Given the description of an element on the screen output the (x, y) to click on. 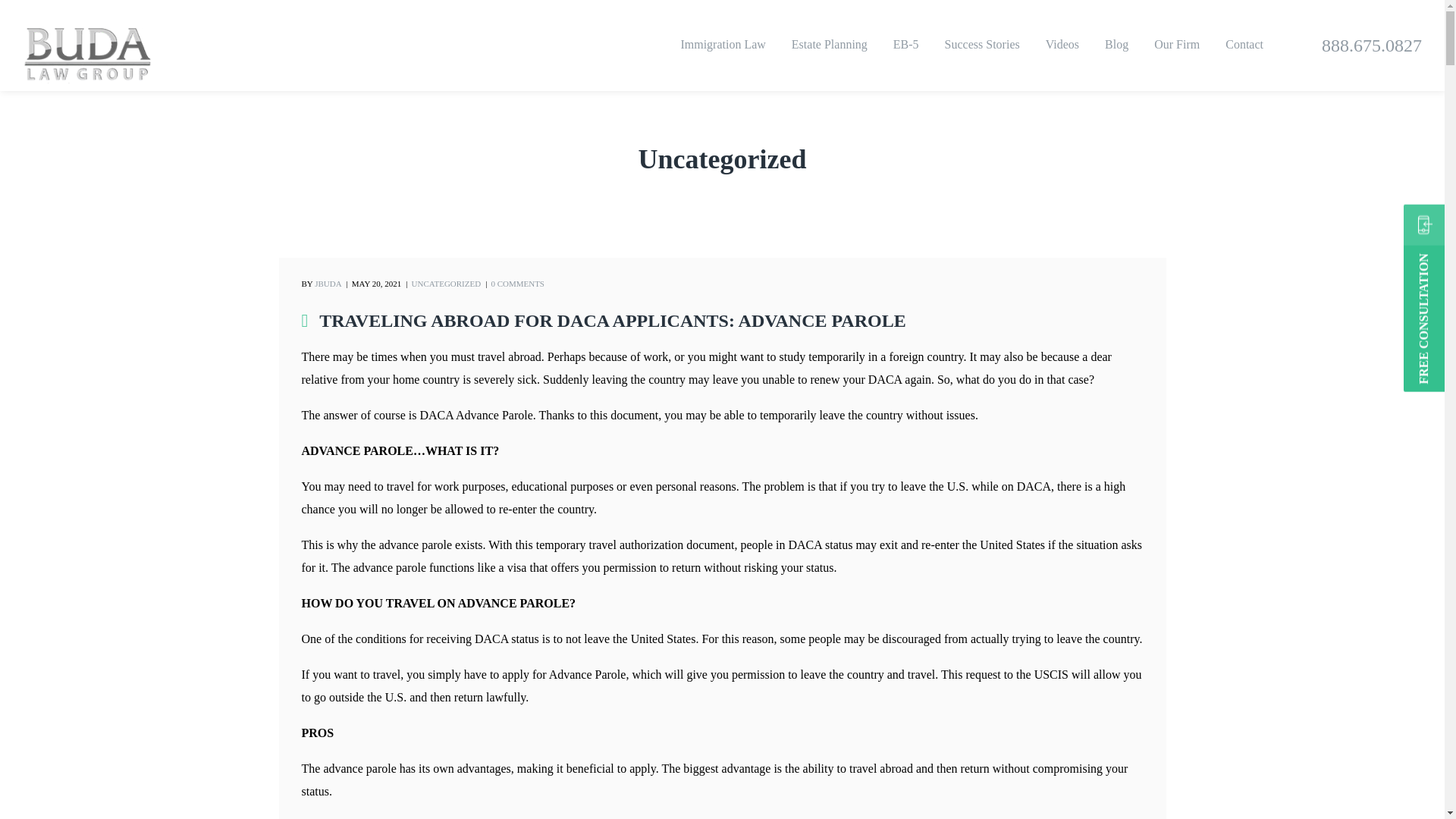
Immigration Law (722, 45)
888.675.0827 (1372, 45)
UNCATEGORIZED (445, 283)
JBUDA (327, 283)
0 COMMENTS (517, 283)
Success Stories (982, 45)
Estate Planning (829, 45)
TRAVELING ABROAD FOR DACA APPLICANTS: ADVANCE PAROLE (611, 320)
